Given the description of an element on the screen output the (x, y) to click on. 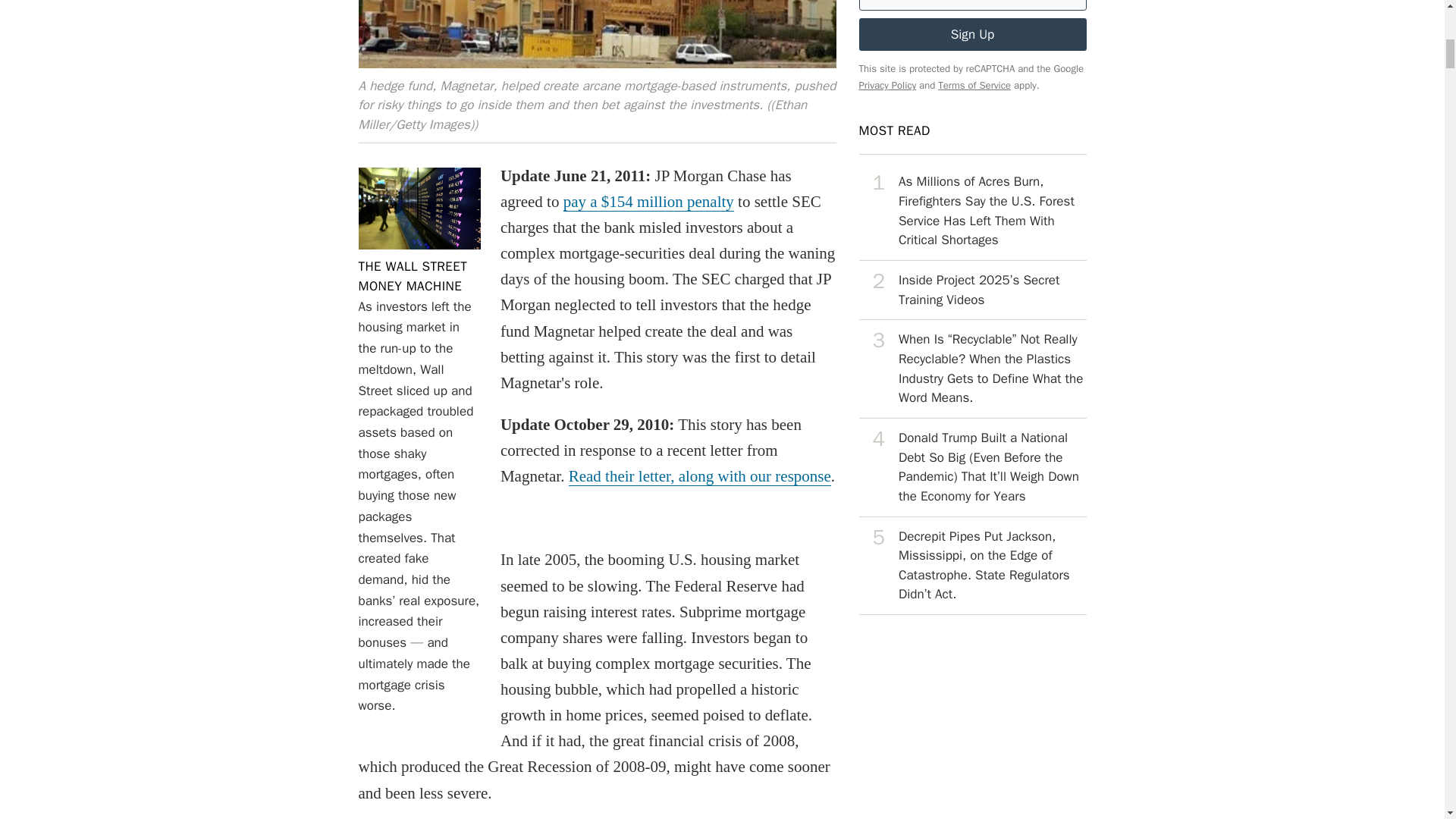
Read their letter, along with our response (700, 476)
View this (972, 565)
View this (972, 467)
View this (972, 211)
Sign Up (412, 276)
View this (972, 34)
View this (972, 290)
